Given the description of an element on the screen output the (x, y) to click on. 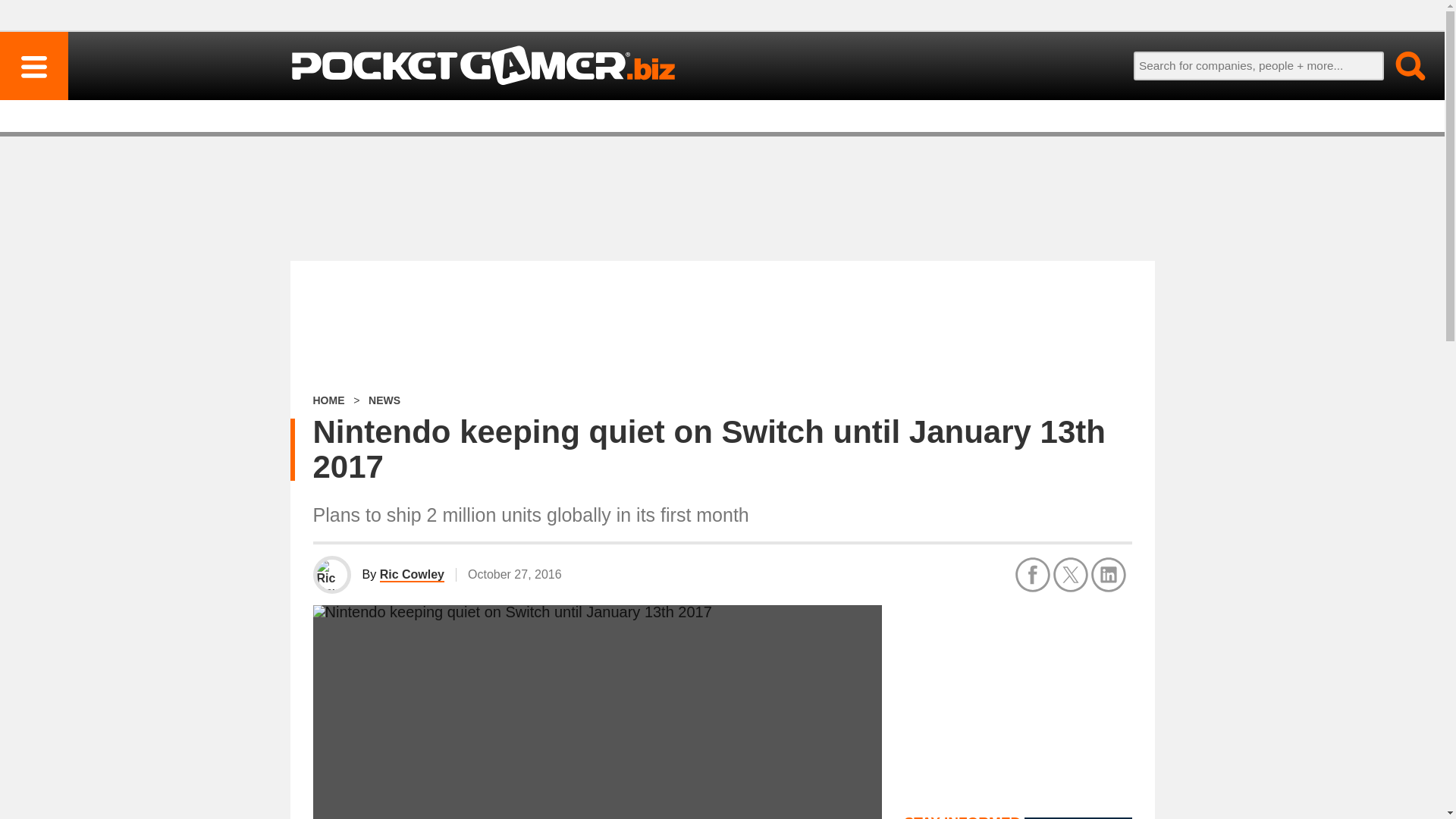
Go (1402, 65)
HOME (328, 400)
Ric Cowley (412, 575)
NEWS (384, 400)
Go (1402, 65)
